Given the description of an element on the screen output the (x, y) to click on. 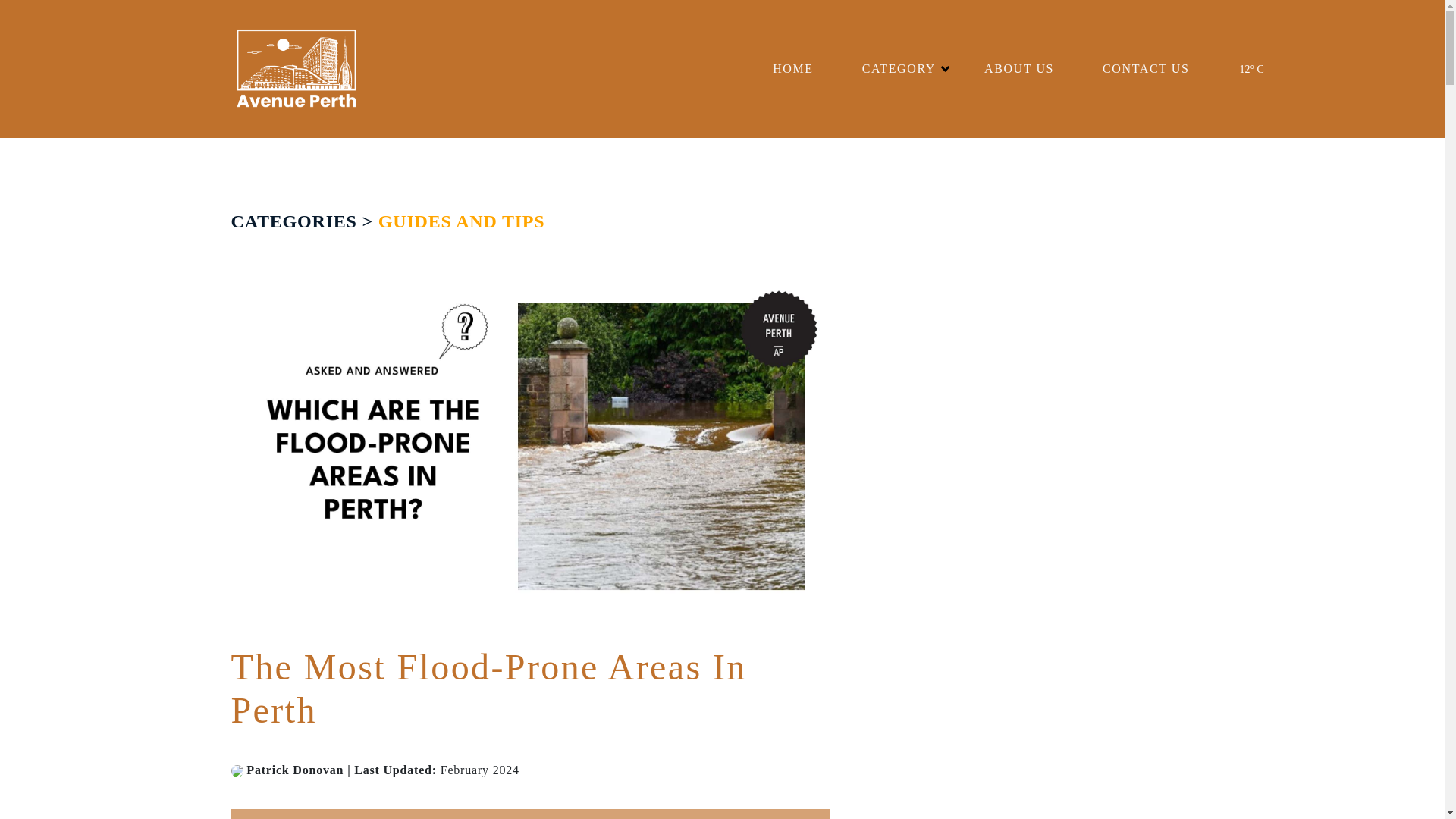
View all posts by Patrick Donovan (238, 769)
ABOUT US (1018, 69)
HOME (793, 69)
CATEGORY (899, 69)
Patrick Donovan (294, 769)
Table of Contents: (529, 814)
Posts by Patrick Donovan (294, 769)
CONTACT US (1145, 69)
